Given the description of an element on the screen output the (x, y) to click on. 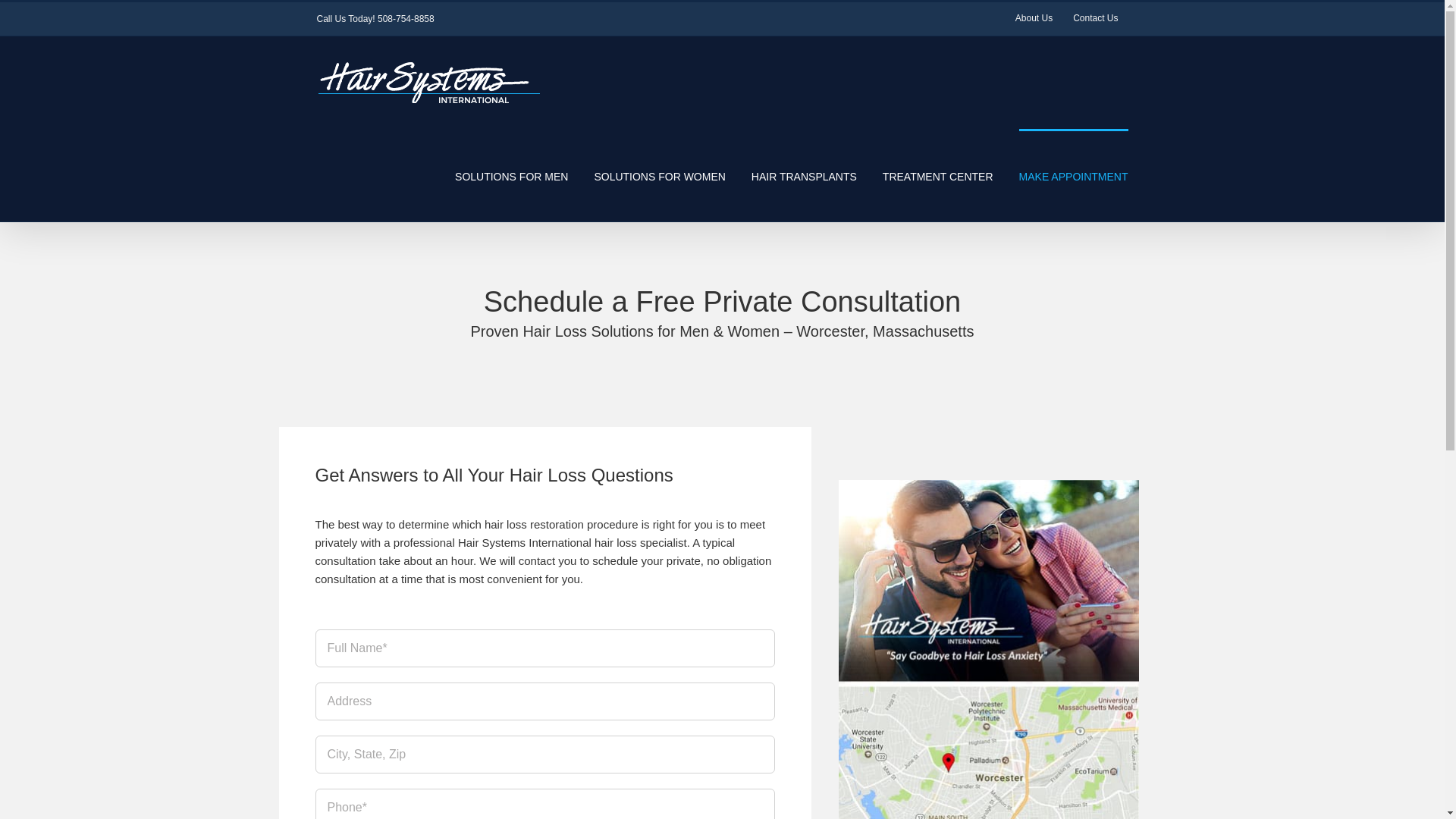
HAIR TRANSPLANTS (804, 174)
Contact Us (1094, 19)
TREATMENT CENTER (937, 174)
MAKE APPOINTMENT (1073, 174)
SOLUTIONS FOR MEN (510, 174)
About Us (1034, 19)
SOLUTIONS FOR WOMEN (659, 174)
